Given the description of an element on the screen output the (x, y) to click on. 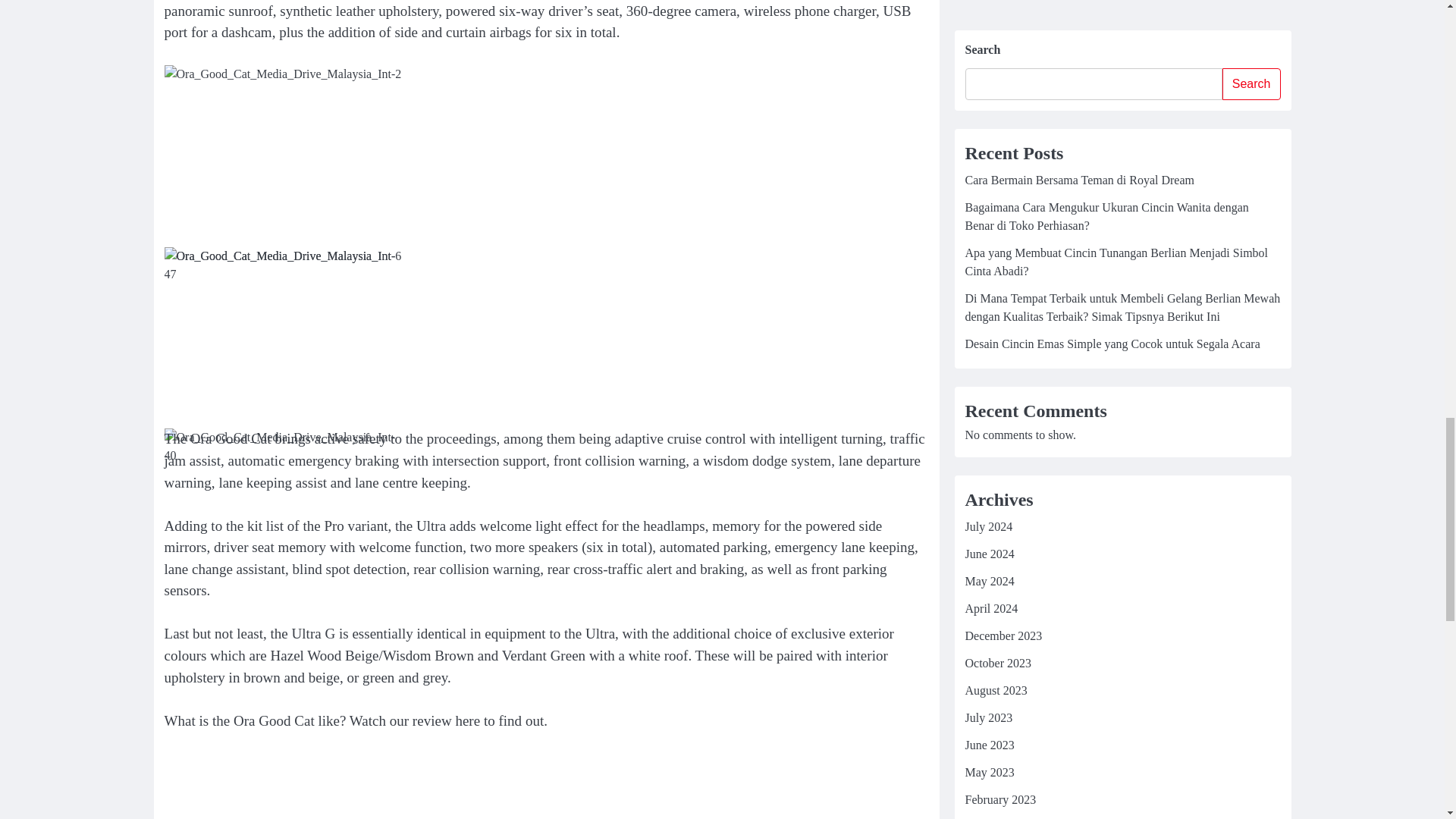
2022 Ora Good Cat - Malaysia's cheapest EV? (406, 786)
